Given the description of an element on the screen output the (x, y) to click on. 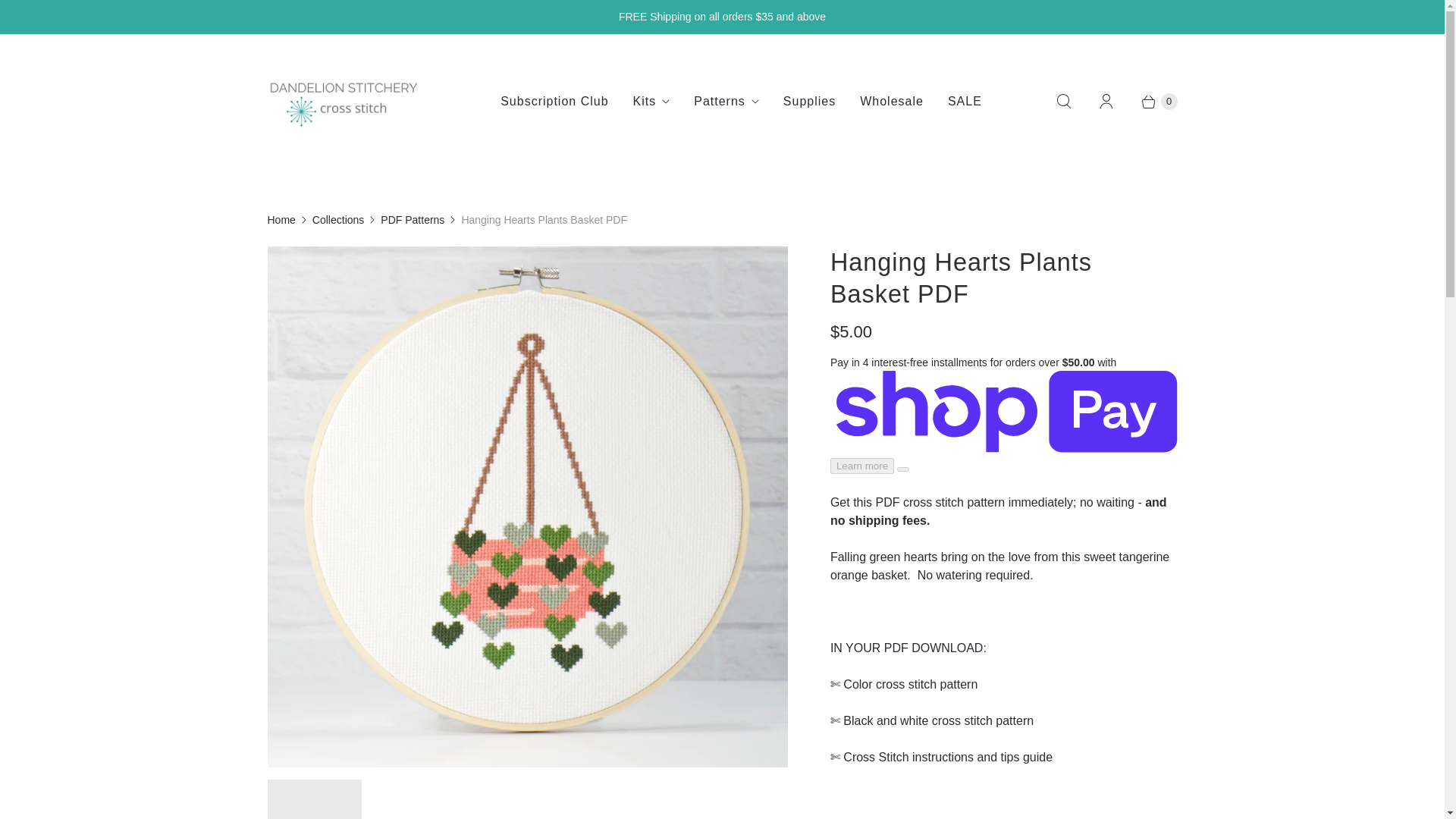
Wholesale (891, 101)
0 (1151, 101)
Subscription Club (553, 101)
SALE (965, 101)
Supplies (809, 101)
